Given the description of an element on the screen output the (x, y) to click on. 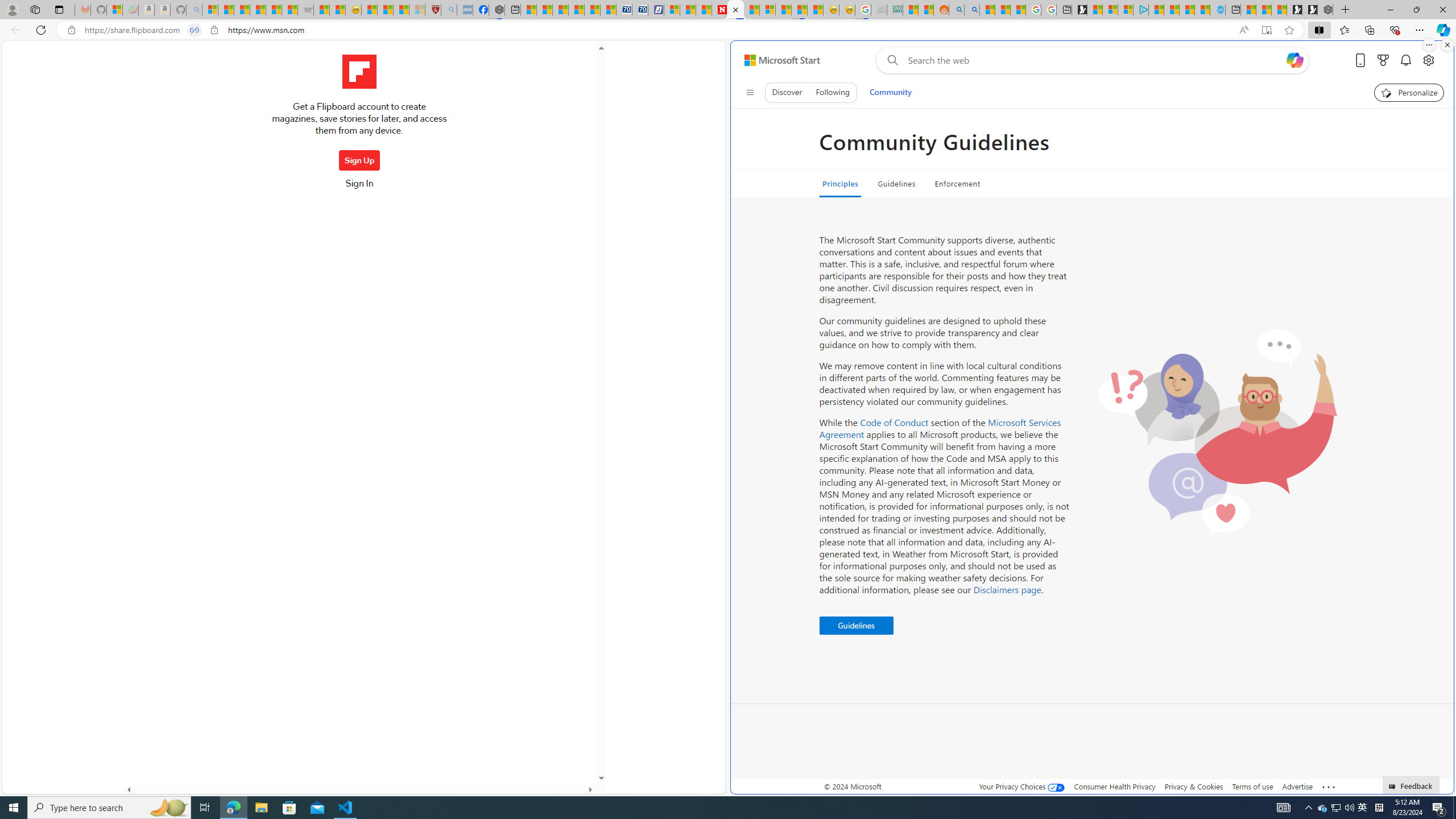
Sign Up (359, 159)
Community (889, 92)
Enforcement (956, 183)
Guidelines (895, 183)
More options. (1428, 45)
